Given the description of an element on the screen output the (x, y) to click on. 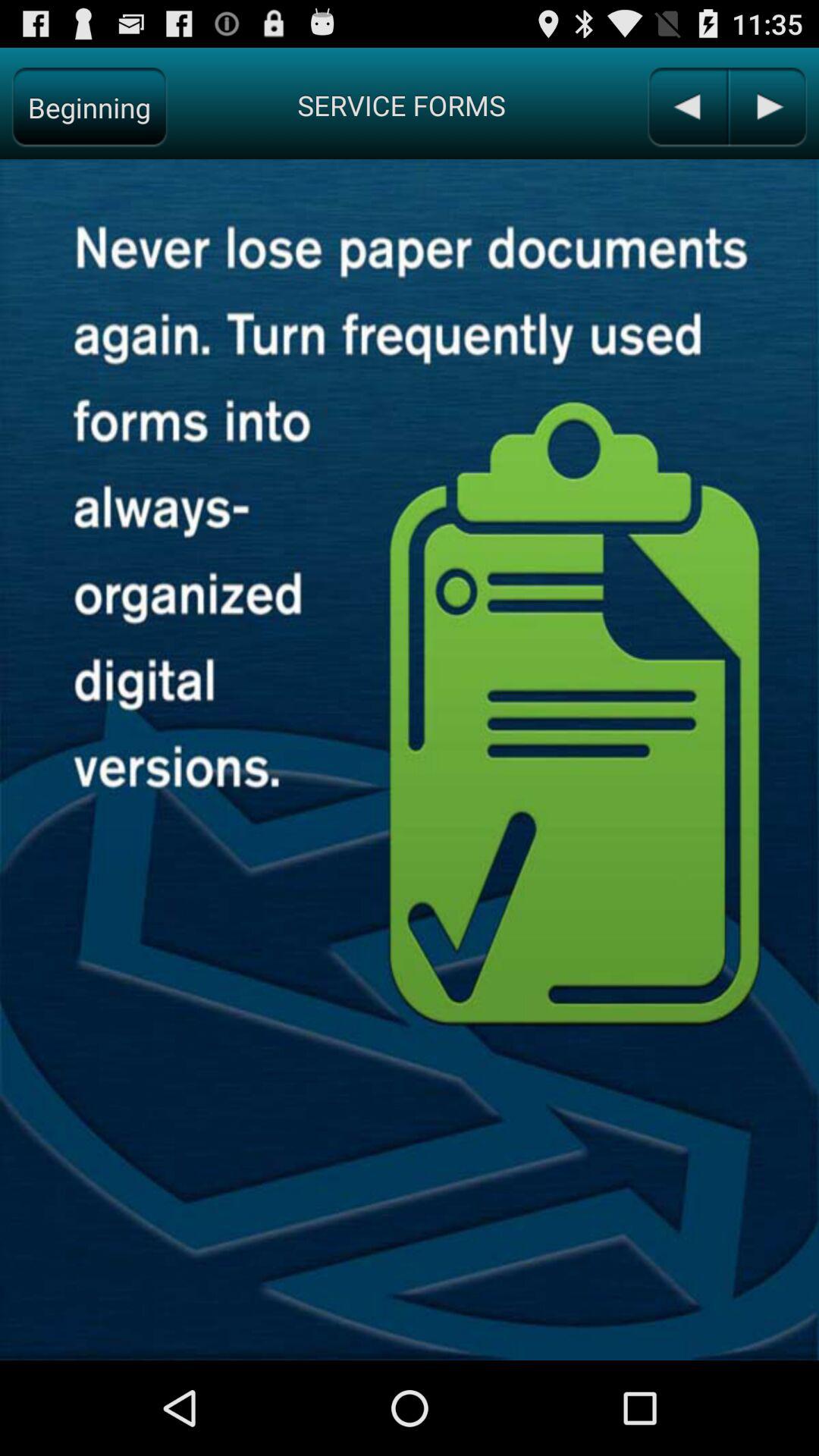
go to previous (767, 107)
